Given the description of an element on the screen output the (x, y) to click on. 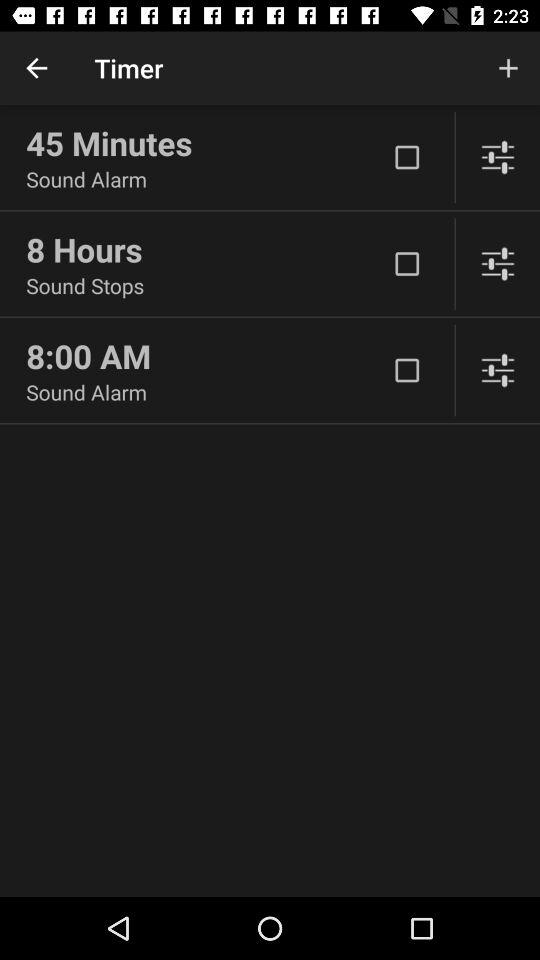
select the item next to timer item (508, 67)
